Given the description of an element on the screen output the (x, y) to click on. 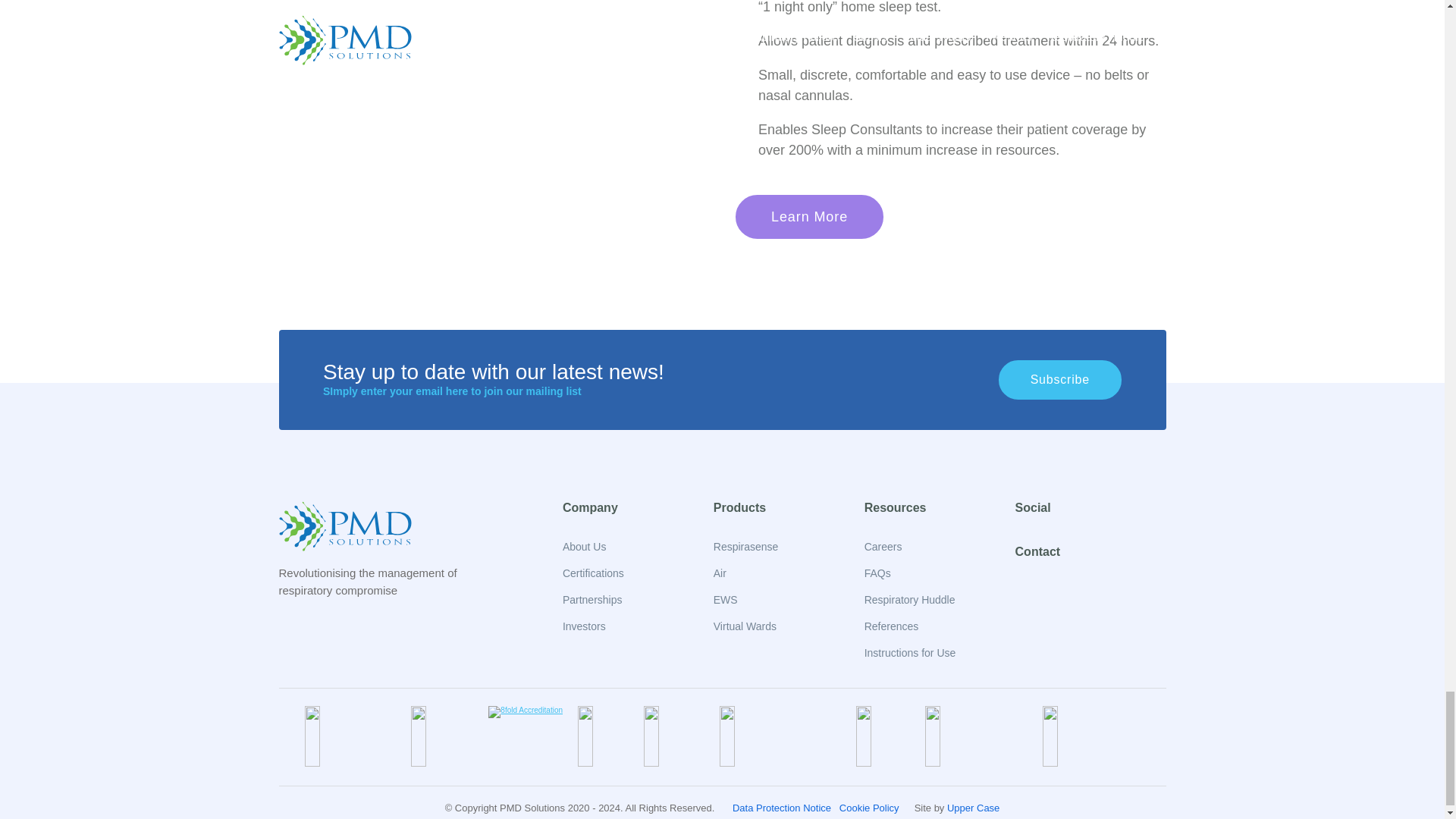
About Us (584, 546)
Investors (583, 625)
Certifications (593, 573)
Respiratory Huddle (909, 599)
EWS (725, 599)
Learn More (809, 216)
Contact (1037, 551)
Cookie Policy (869, 808)
Instructions for Use (910, 653)
Partnerships (592, 599)
